Given the description of an element on the screen output the (x, y) to click on. 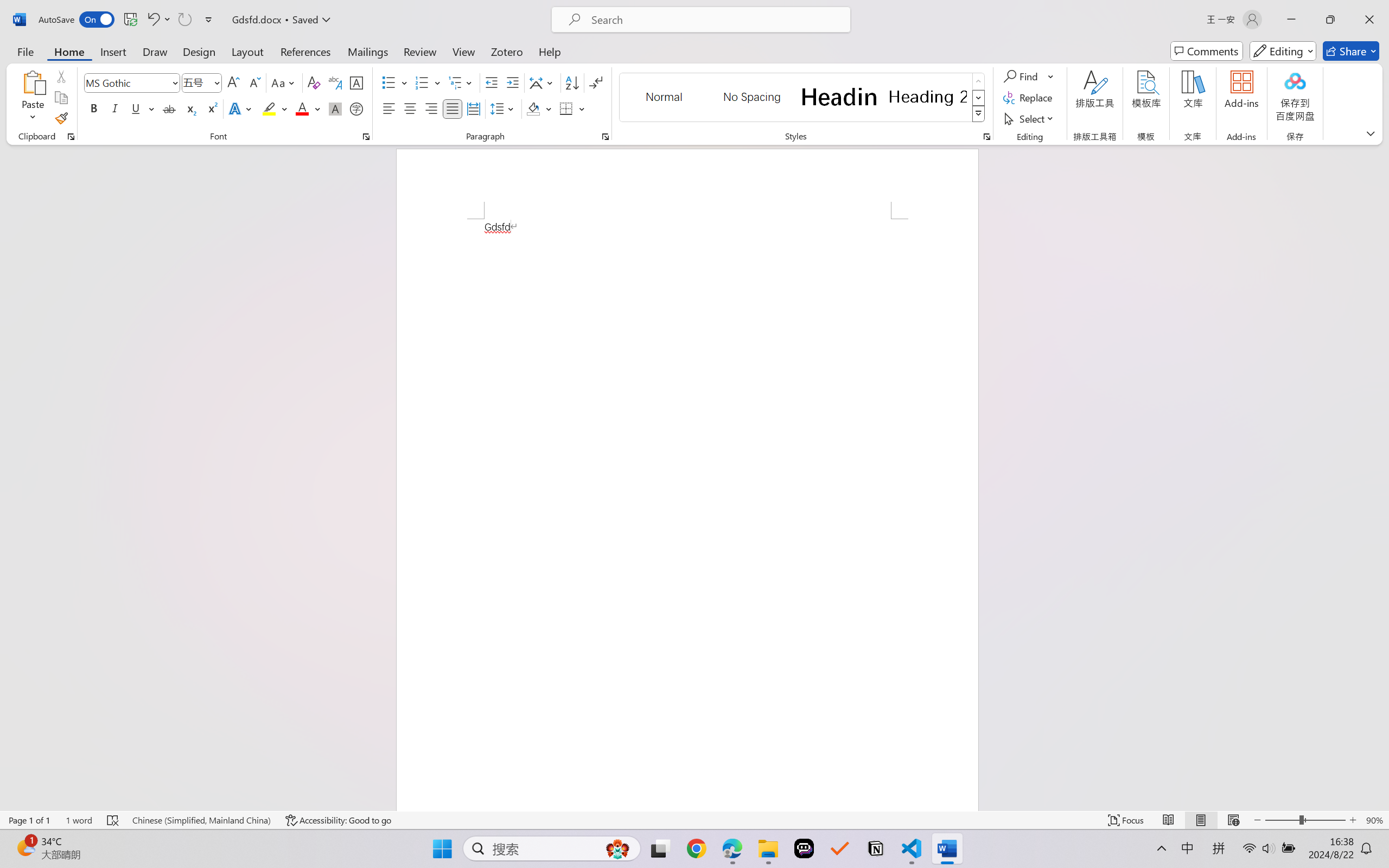
Sort... (571, 82)
Show/Hide Editing Marks (595, 82)
AutomationID: QuickStylesGallery (802, 97)
Class: MsoCommandBar (694, 819)
Can't Repeat (184, 19)
